Given the description of an element on the screen output the (x, y) to click on. 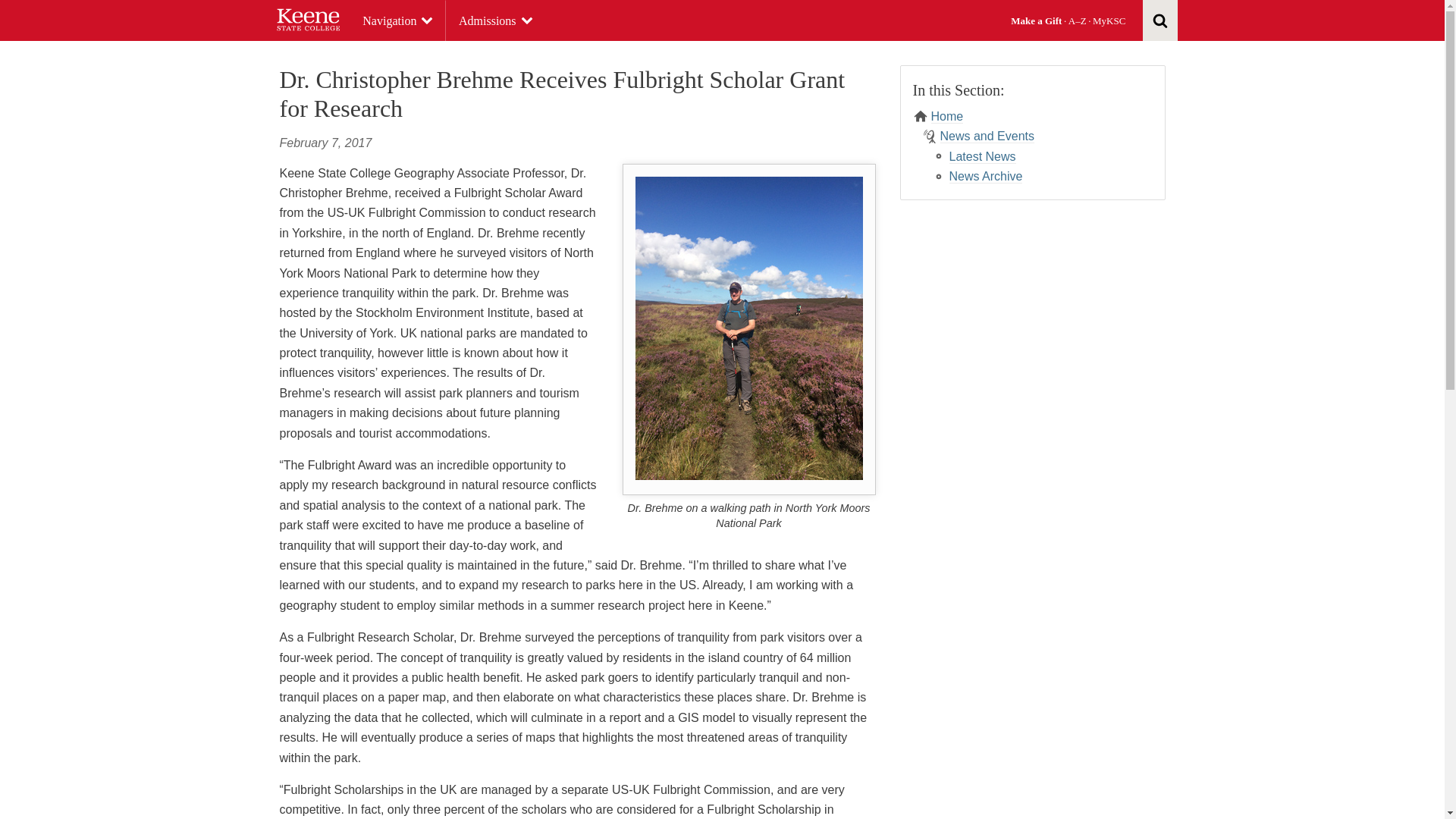
Home (947, 116)
Navigation (397, 20)
Latest News (982, 156)
News and Events (987, 136)
Make a Gift (1036, 20)
MyKSC (1108, 20)
Homepage (307, 20)
News Archive (986, 176)
Admissions (495, 20)
